Given the description of an element on the screen output the (x, y) to click on. 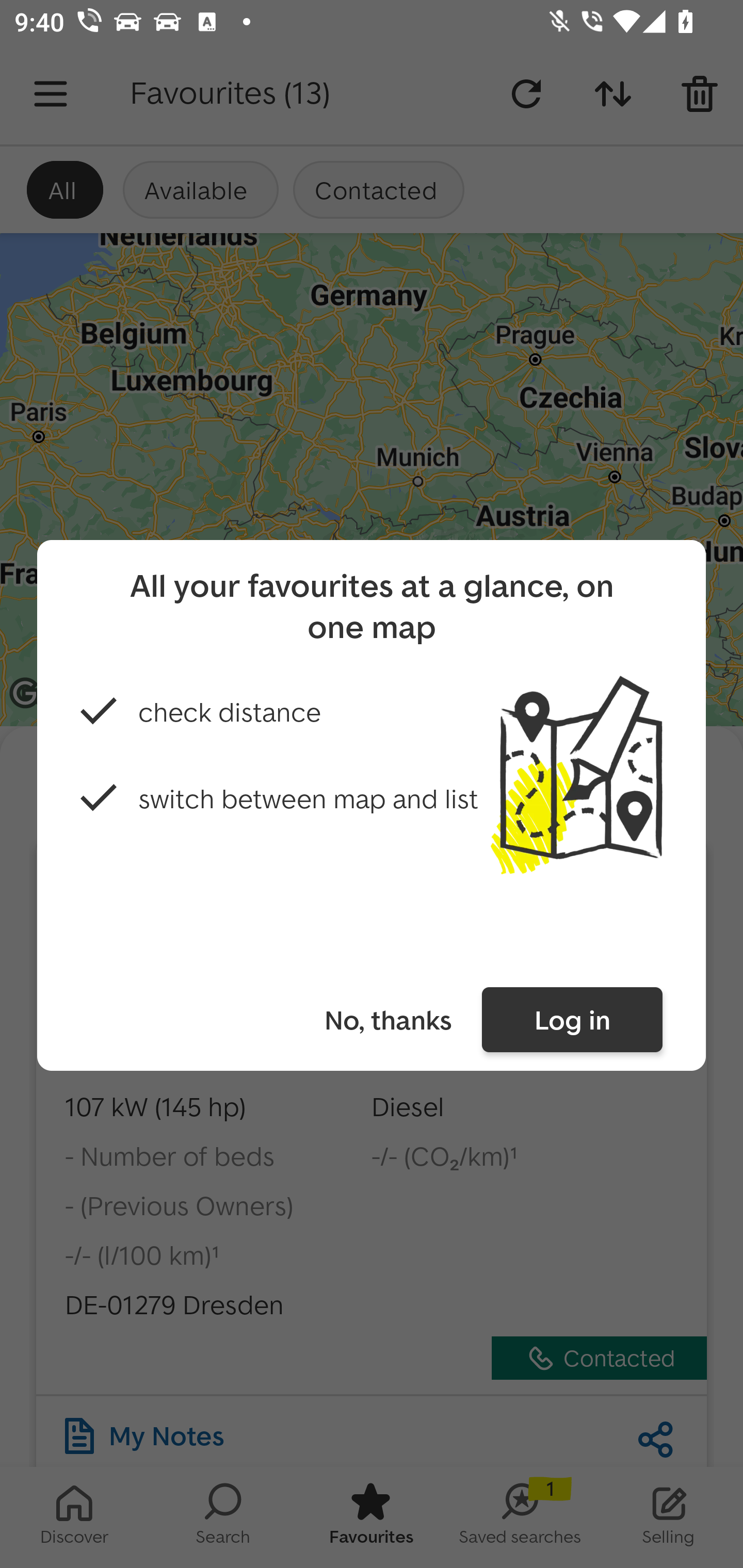
No, thanks (387, 1019)
Log in (572, 1019)
